Given the description of an element on the screen output the (x, y) to click on. 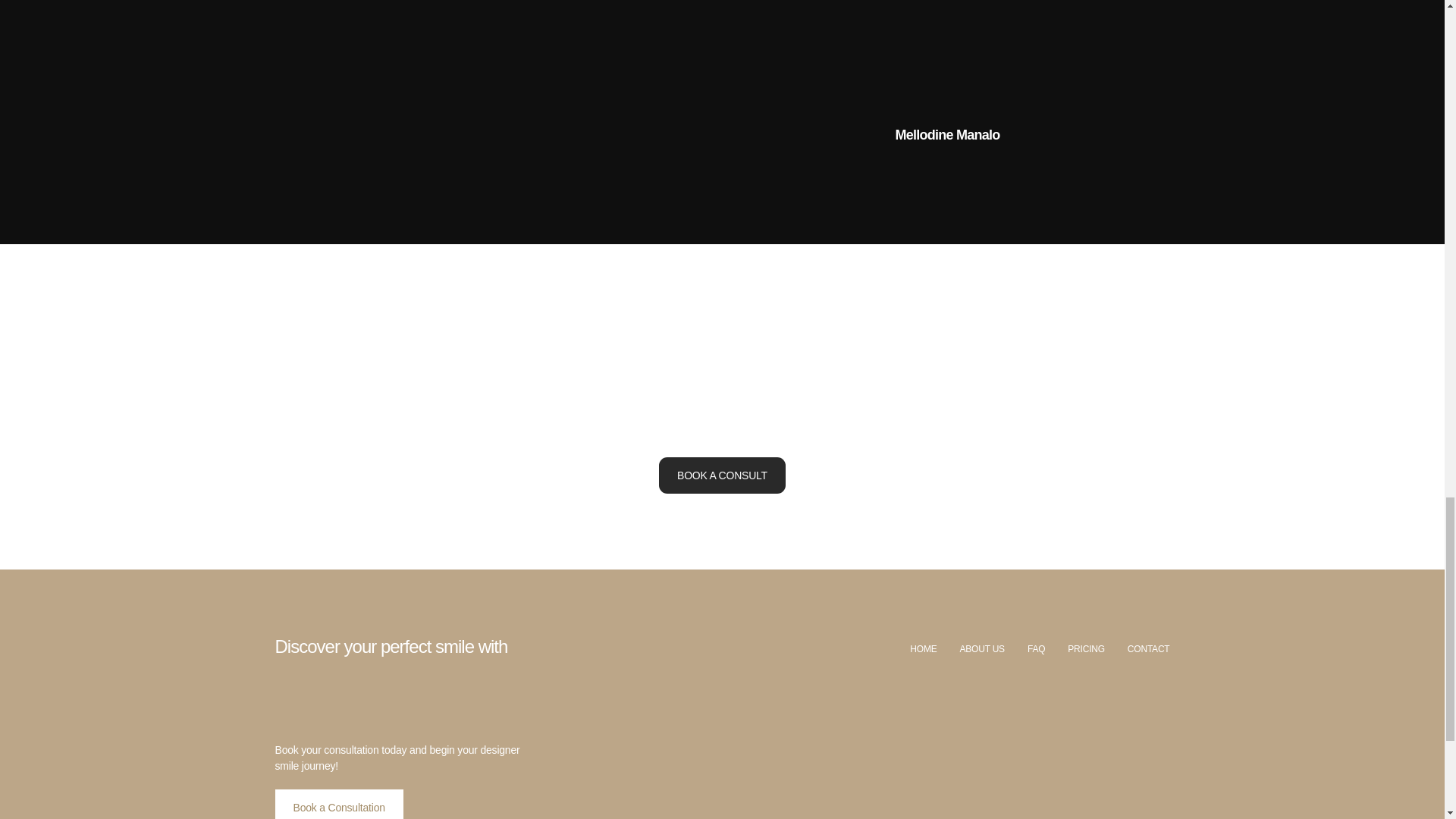
CONTACT (1148, 648)
BOOK A CONSULT (722, 475)
PRICING (1086, 648)
Book a Consultation (339, 804)
ABOUT US (981, 648)
